Given the description of an element on the screen output the (x, y) to click on. 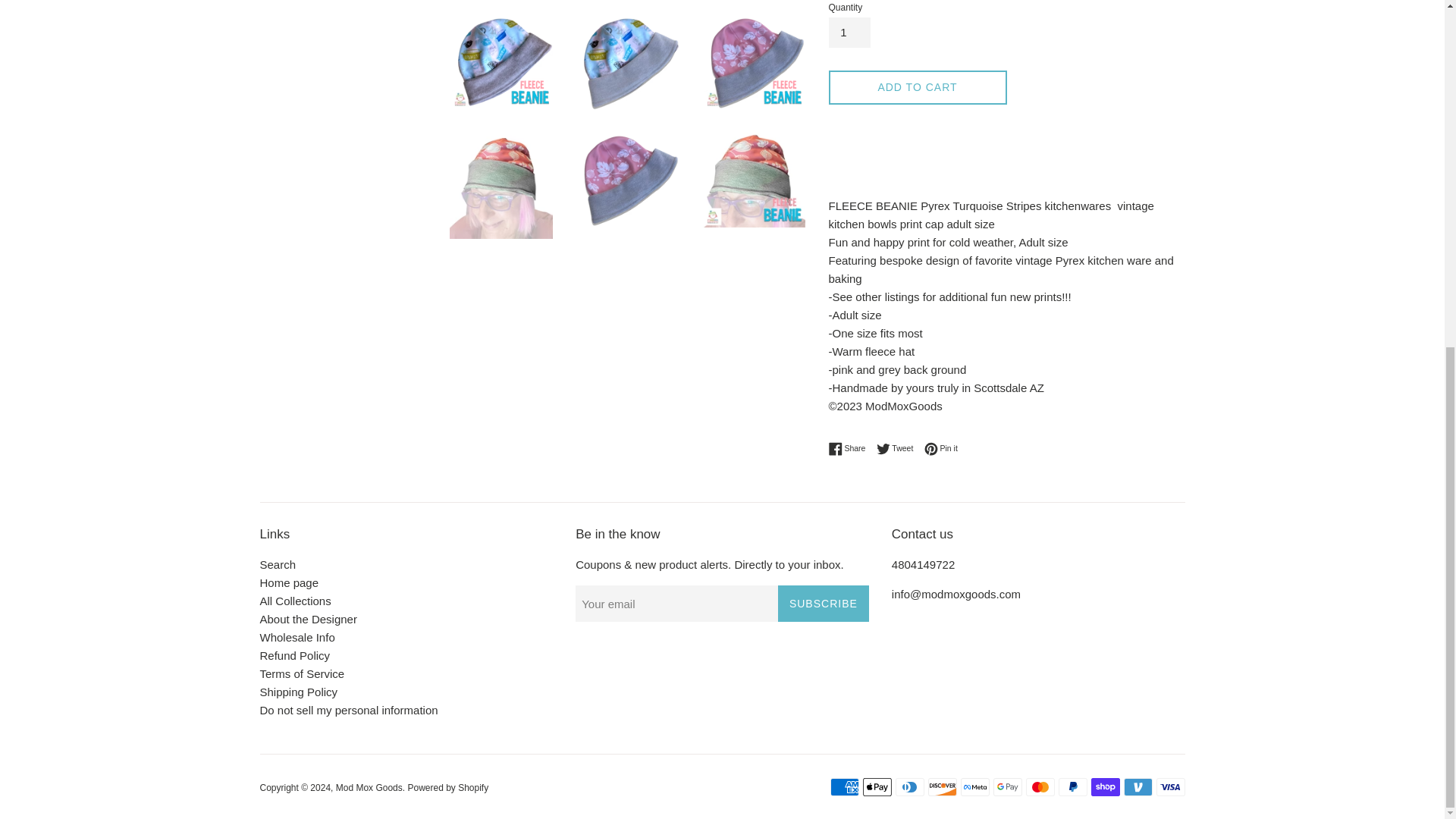
Meta Pay (973, 787)
Discover (942, 787)
Search (277, 563)
Google Pay (1007, 787)
Visa (1170, 787)
Share on Facebook (850, 448)
Tweet on Twitter (898, 448)
Diners Club (909, 787)
Home page (288, 582)
American Express (844, 787)
Apple Pay (850, 448)
1 (941, 448)
Shop Pay (877, 787)
